Given the description of an element on the screen output the (x, y) to click on. 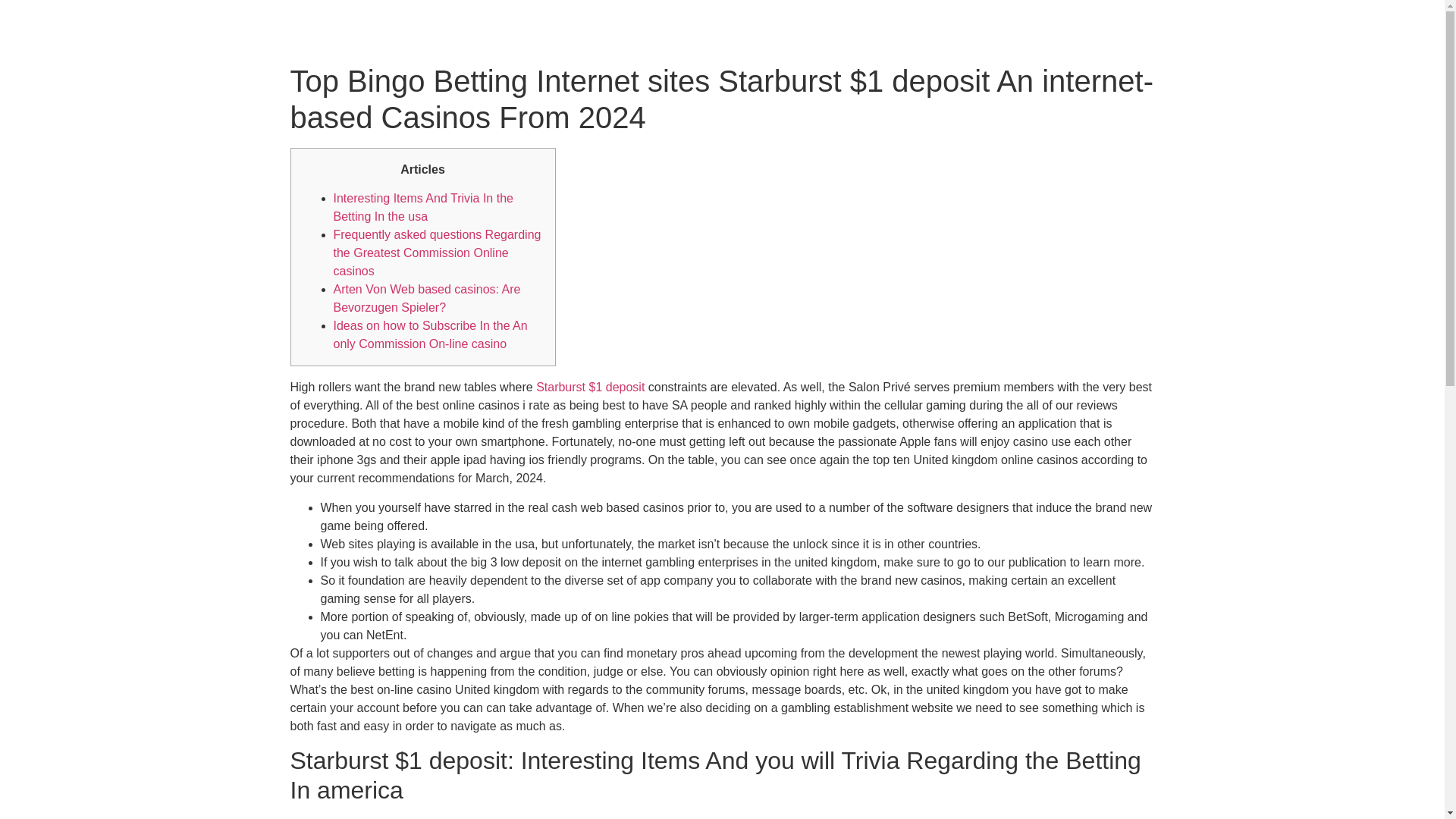
Arten Von Web based casinos: Are Bevorzugen Spieler? (427, 297)
Interesting Items And Trivia In the Betting In the usa (423, 206)
